Given the description of an element on the screen output the (x, y) to click on. 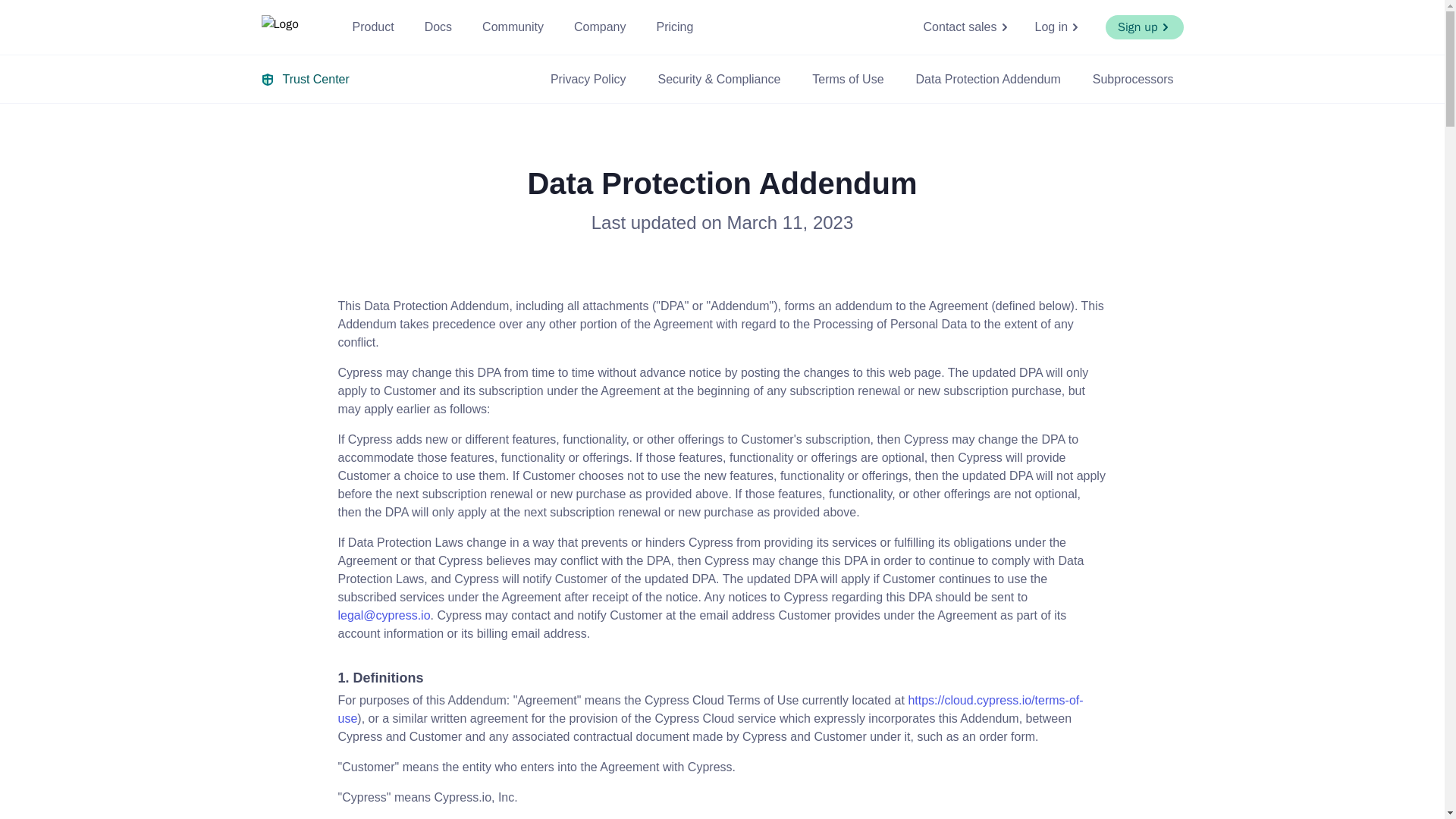
Company (599, 27)
Community (512, 27)
Product (372, 27)
Docs (438, 27)
1. Definitions (721, 677)
